Given the description of an element on the screen output the (x, y) to click on. 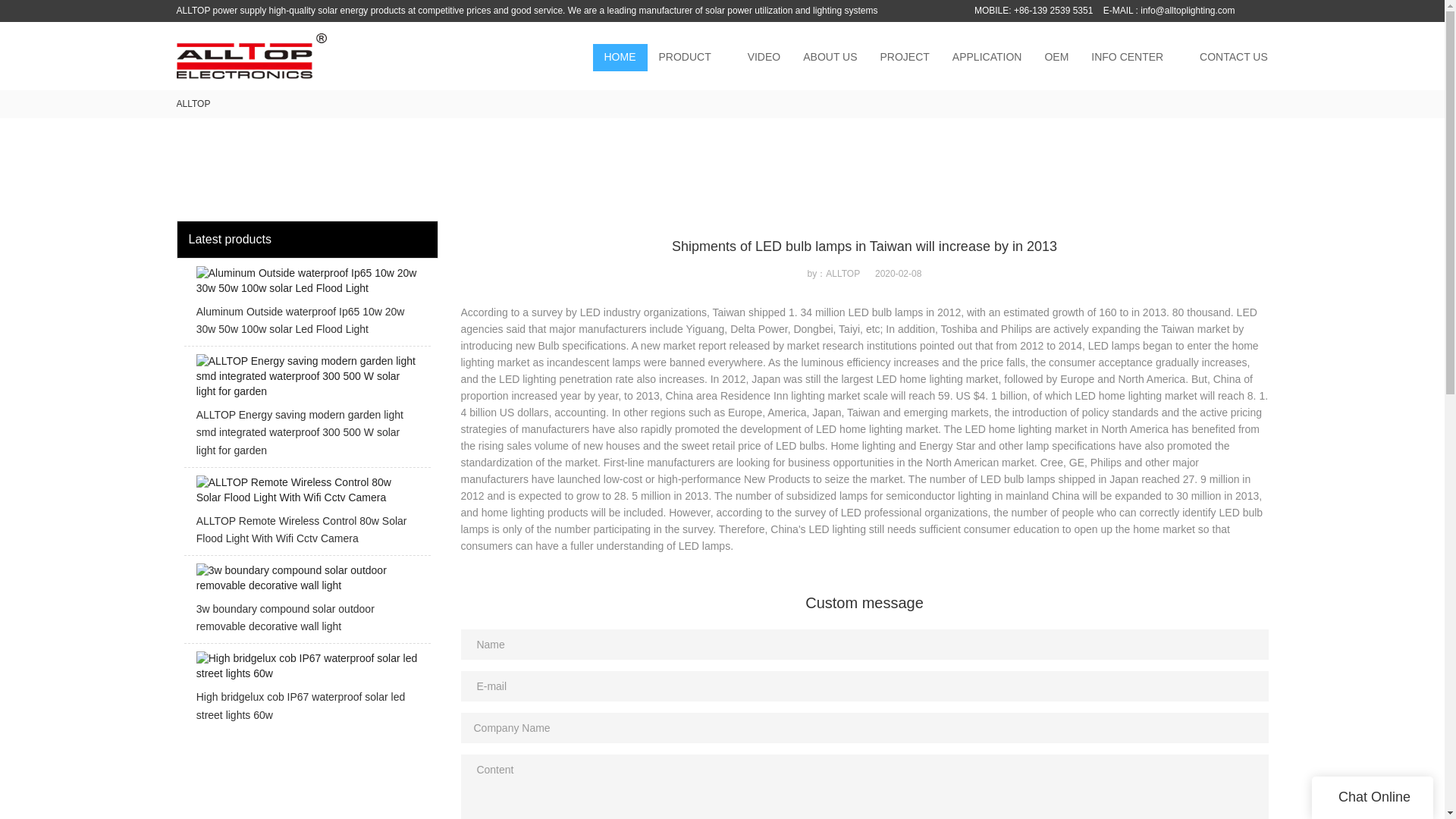
ALLTOP (192, 103)
OEM (1056, 57)
PROJECT (904, 57)
CONTACT US (1233, 57)
PRODUCT (684, 57)
VIDEO (764, 57)
HOME (619, 57)
ABOUT US (829, 57)
INFO CENTER (1127, 57)
APPLICATION (986, 57)
